Given the description of an element on the screen output the (x, y) to click on. 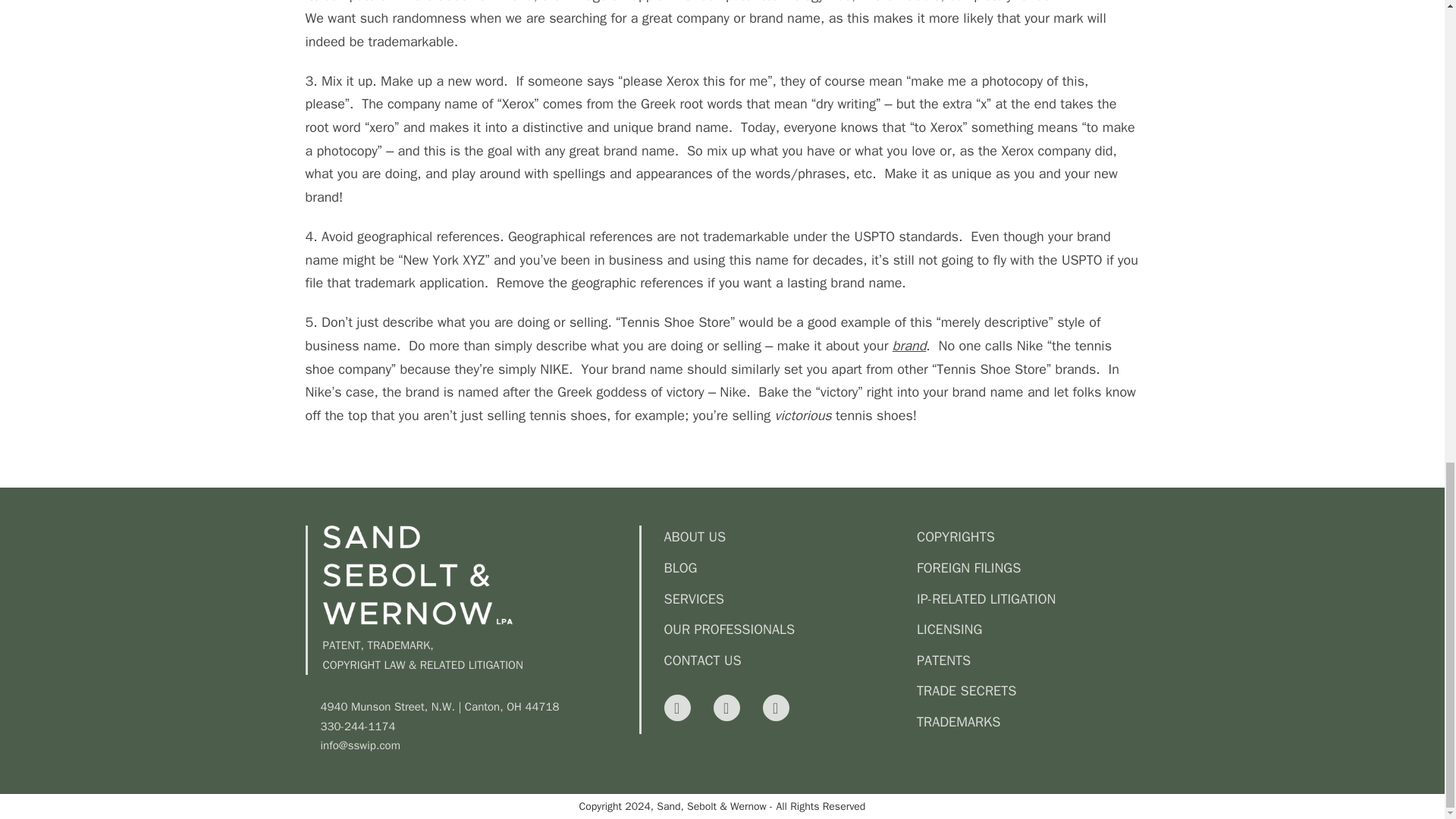
330-244-1174 (479, 727)
BLOG (782, 567)
ABOUT US (782, 536)
